Given the description of an element on the screen output the (x, y) to click on. 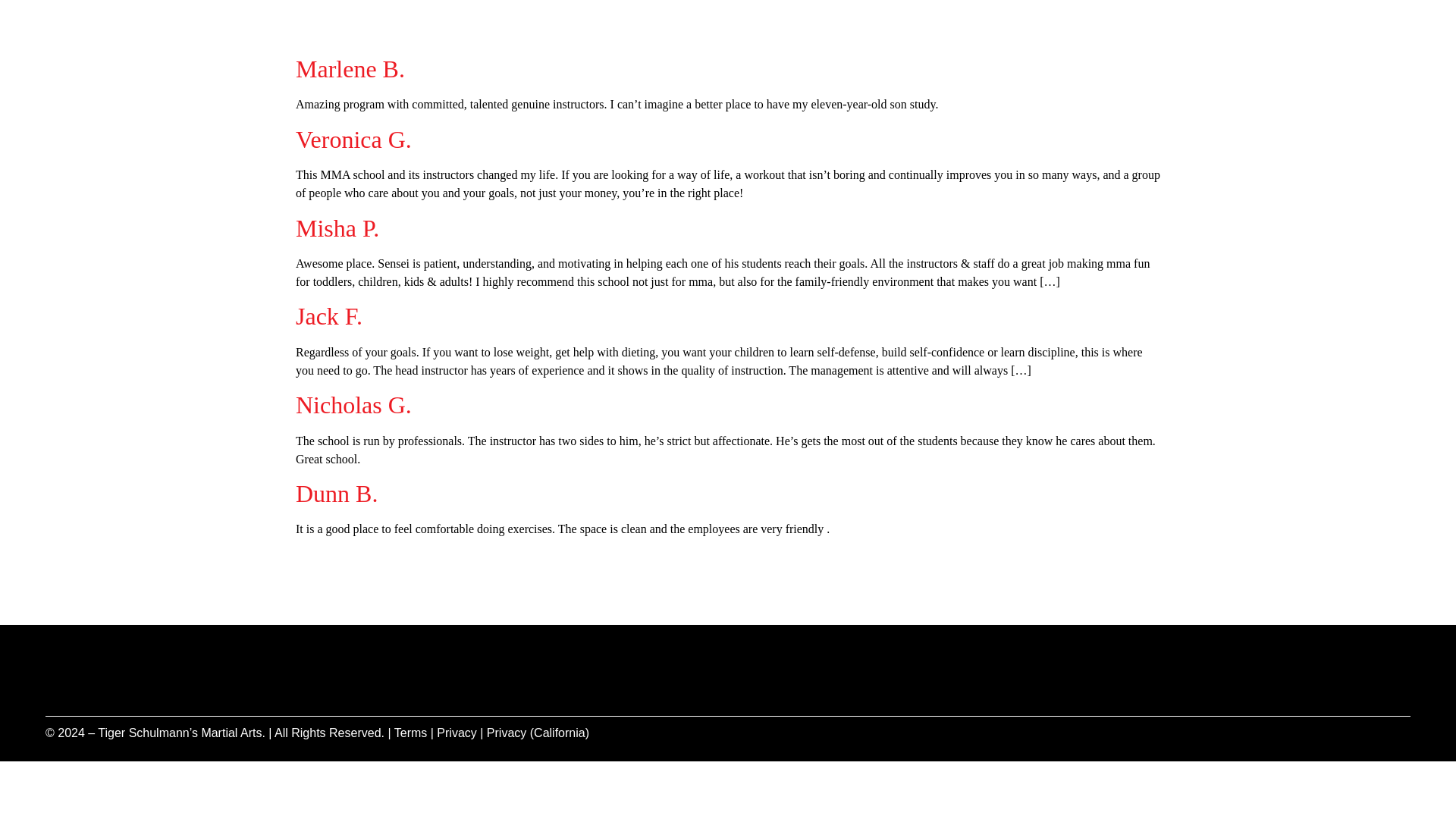
Marlene B. (349, 68)
Dunn B. (336, 492)
Terms (411, 732)
Misha P. (336, 227)
Jack F. (328, 316)
Nicholas G. (353, 404)
Veronica G. (353, 139)
Privacy (456, 732)
